Given the description of an element on the screen output the (x, y) to click on. 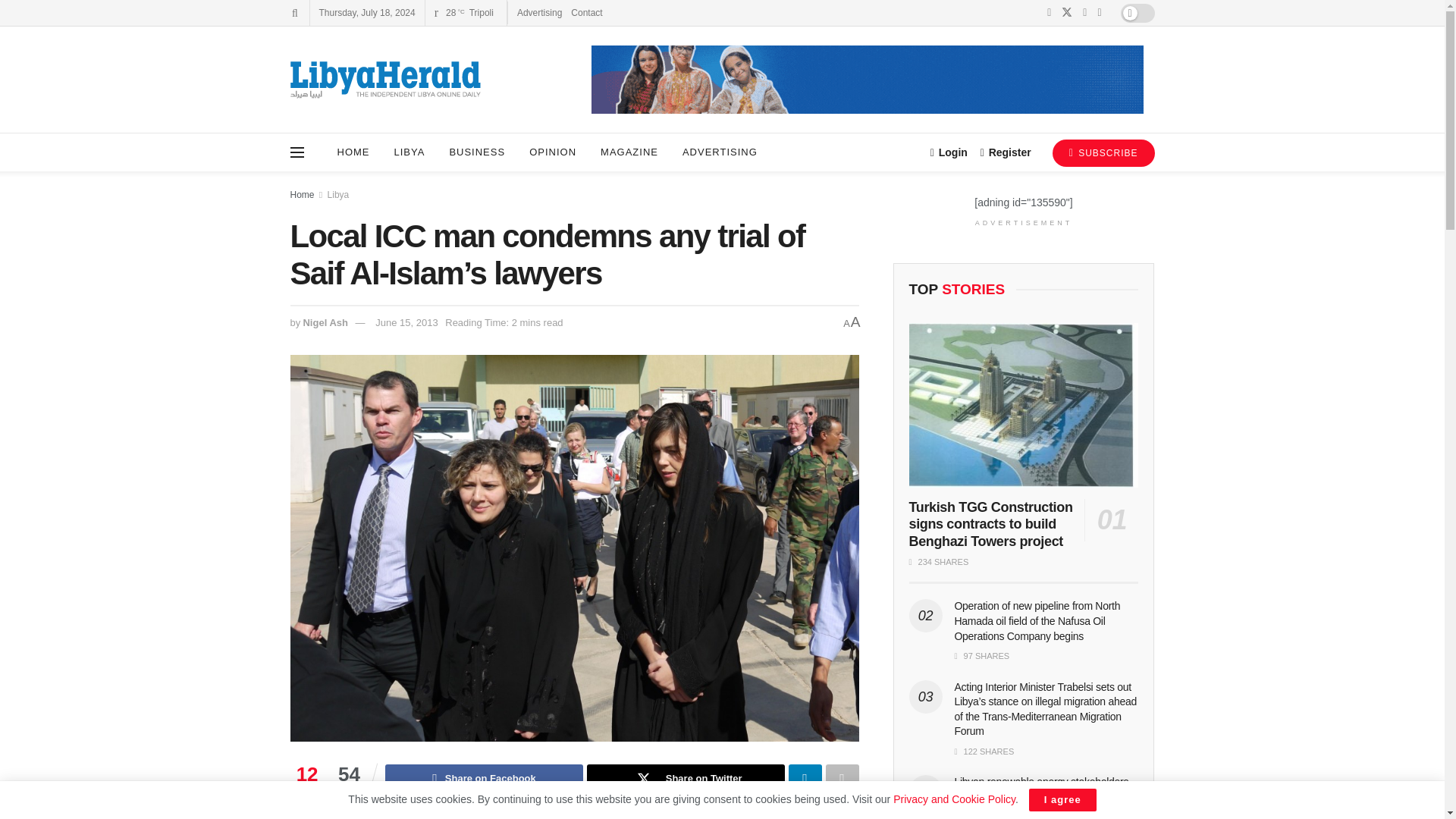
OPINION (552, 152)
Nigel Ash (324, 322)
MAGAZINE (628, 152)
BUSINESS (476, 152)
Libya (338, 194)
LIBYA (409, 152)
Contact (586, 12)
HOME (352, 152)
Register (1004, 152)
SUBSCRIBE (1103, 153)
Home (301, 194)
ADVERTISING (719, 152)
Advertising (539, 12)
Login (949, 152)
June 15, 2013 (406, 322)
